Given the description of an element on the screen output the (x, y) to click on. 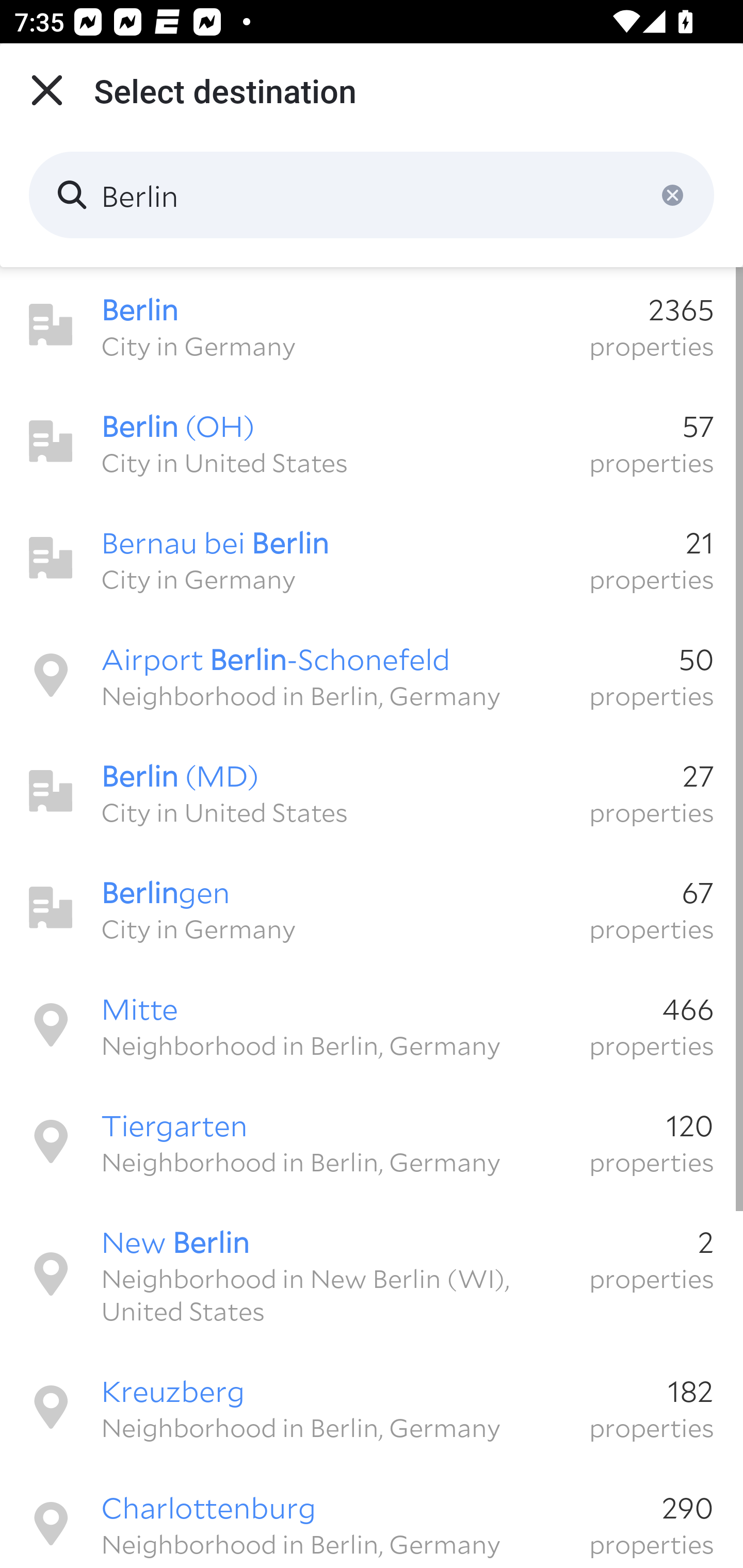
Berlin (371, 195)
Berlin 2365 City in Germany properties (371, 325)
Berlin (OH) 57 City in United States properties (371, 442)
Bernau bei Berlin 21 City in Germany properties (371, 558)
Berlin (MD) 27 City in United States properties (371, 791)
Berlingen 67 City in Germany properties (371, 907)
